Given the description of an element on the screen output the (x, y) to click on. 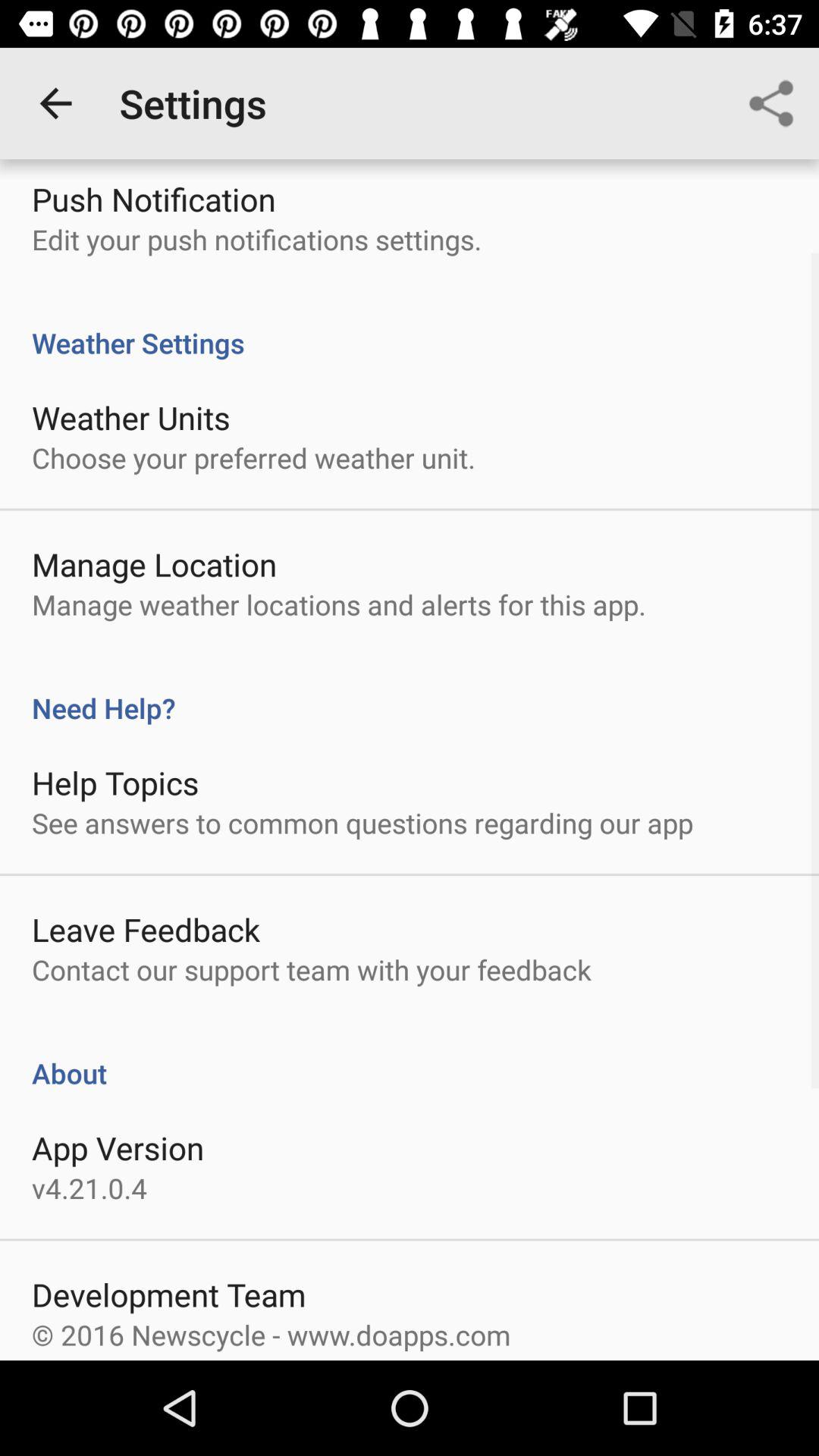
flip to weather settings (409, 326)
